Given the description of an element on the screen output the (x, y) to click on. 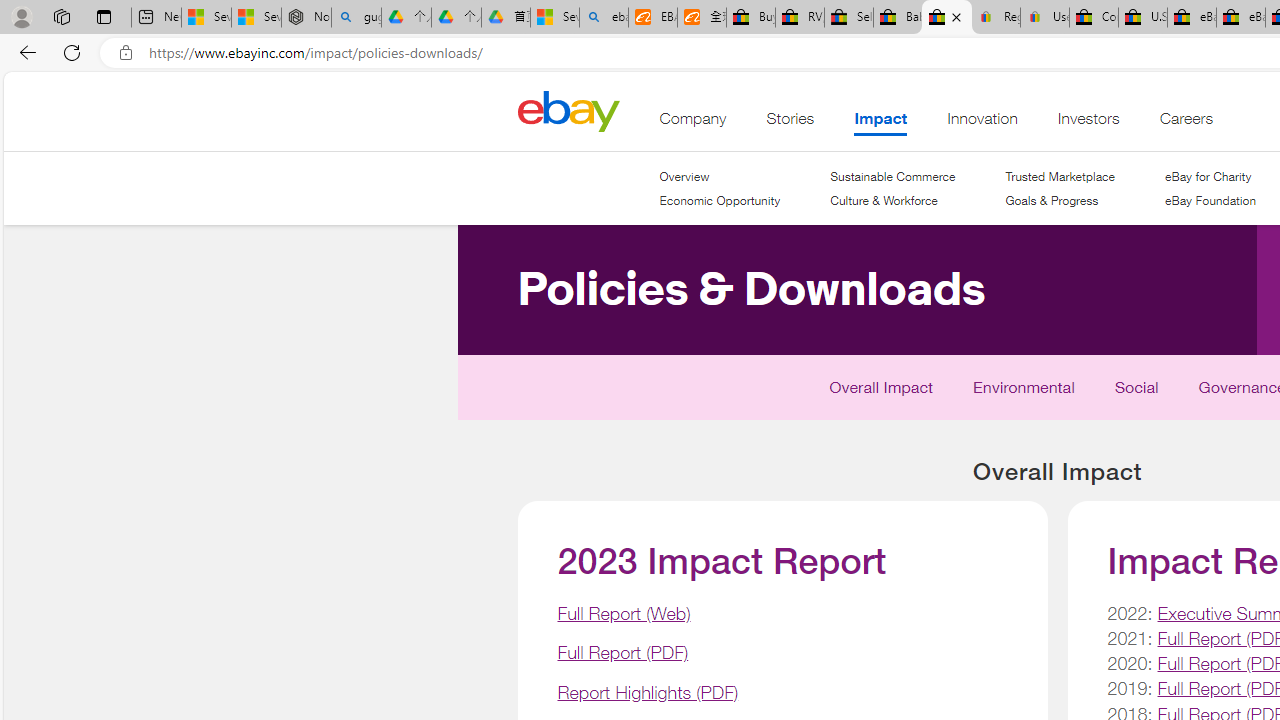
Consumer Health Data Privacy Policy - eBay Inc. (1093, 17)
Policies & Downloads - eBay Inc. (946, 17)
Stories (790, 123)
Overview (684, 176)
Sustainable Commerce (892, 176)
Innovation (982, 123)
Investors (1088, 123)
Goals & Progress (1051, 200)
Environmental (1023, 391)
Class: desktop (568, 110)
Overall Impact (881, 391)
Register: Create a personal eBay account (995, 17)
Stories (790, 123)
